Given the description of an element on the screen output the (x, y) to click on. 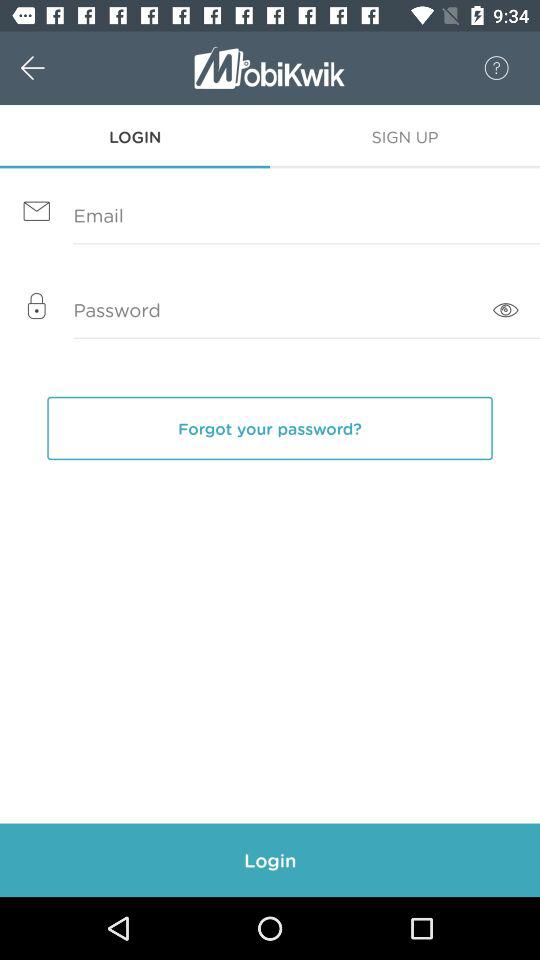
choose the item to the right of y item (505, 309)
